Given the description of an element on the screen output the (x, y) to click on. 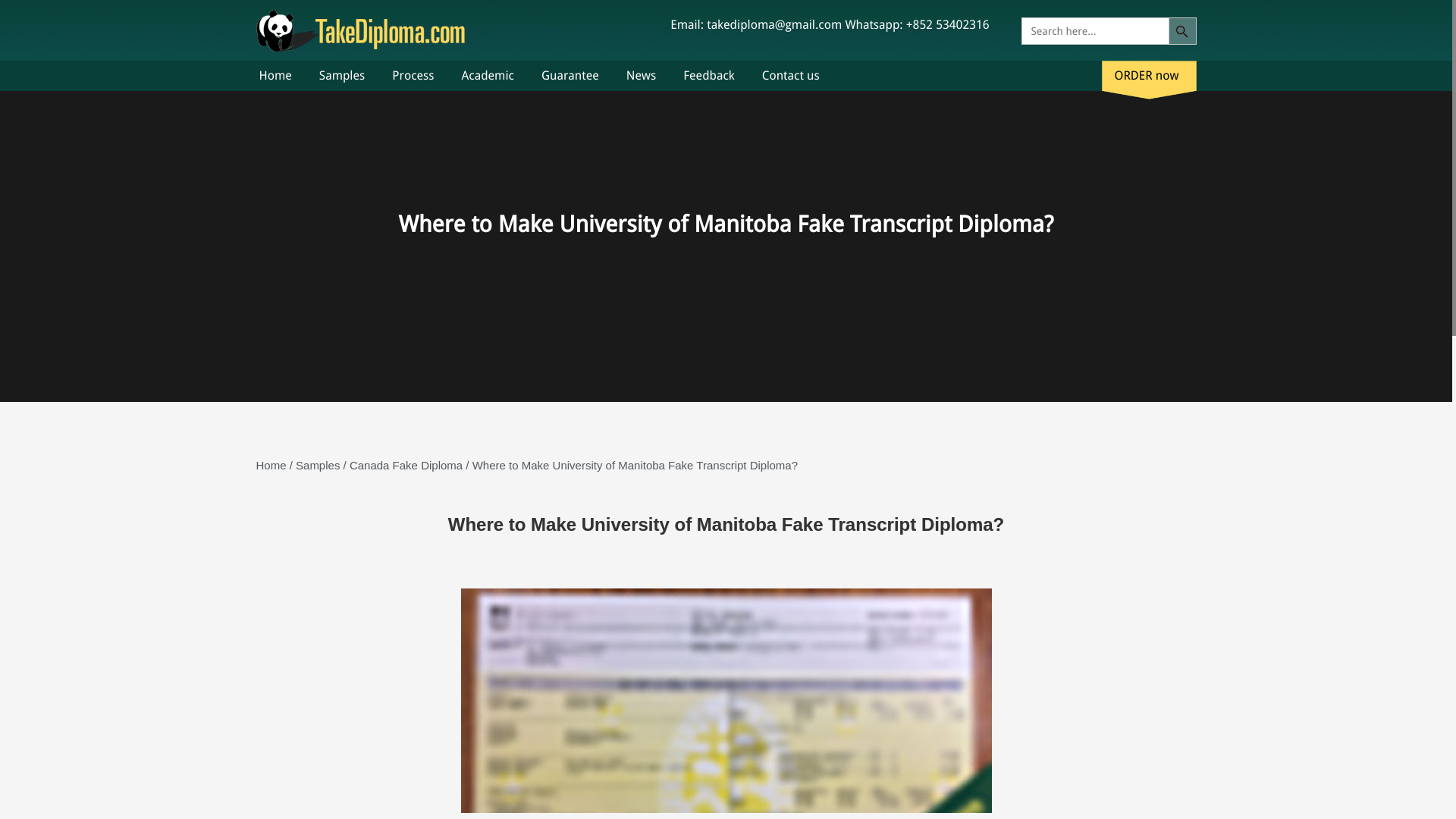
Home (271, 464)
News (641, 74)
Canada Fake Diploma (406, 464)
University of Manitoba fake transcript (726, 703)
Home (275, 74)
Feedback (708, 74)
Contact us (790, 74)
Guarantee (570, 74)
Academic (487, 74)
Process (412, 74)
Samples (341, 74)
Samples (317, 464)
Home (271, 464)
Samples (317, 464)
